Given the description of an element on the screen output the (x, y) to click on. 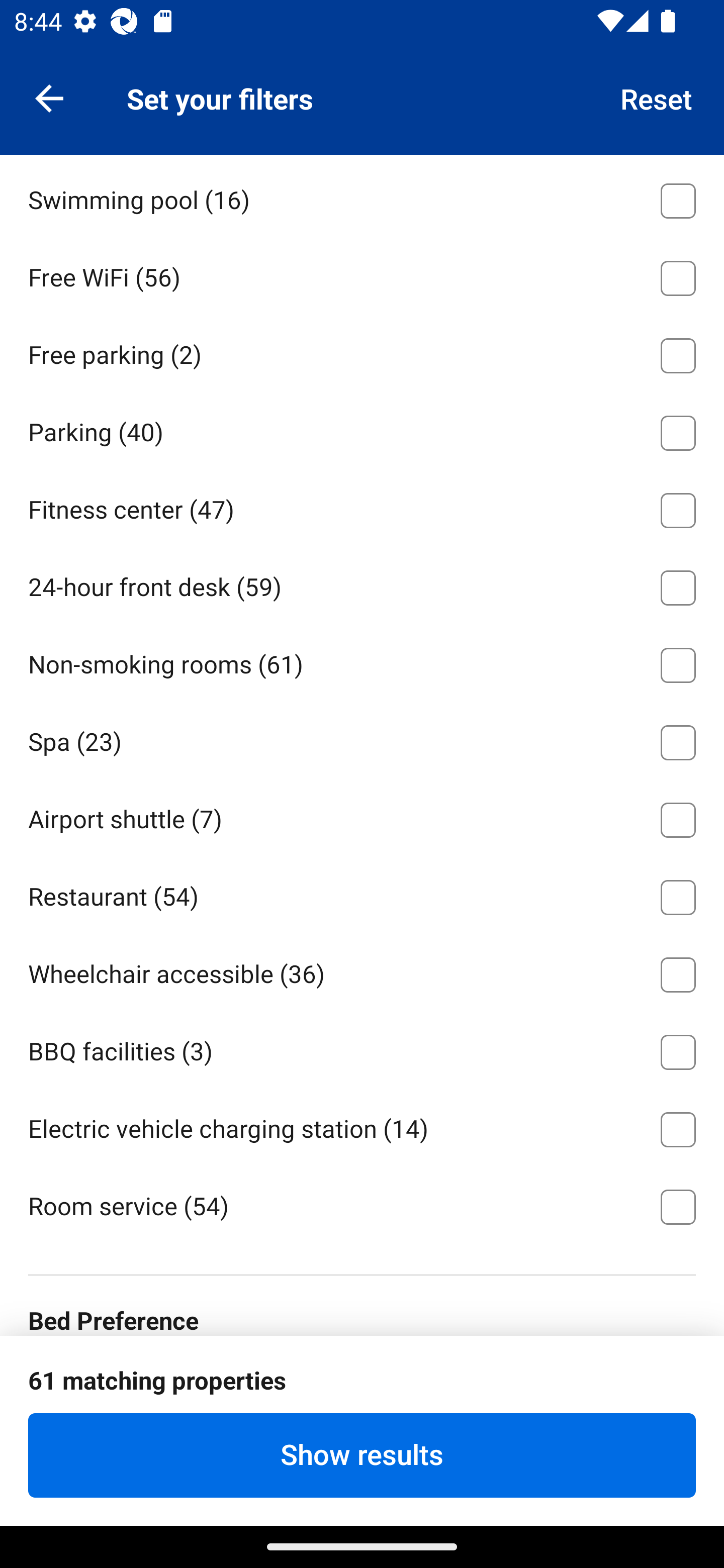
Navigate up (49, 97)
Reset (656, 97)
Swimming pool ⁦(16) (361, 197)
Free WiFi ⁦(56) (361, 274)
Free parking ⁦(2) (361, 351)
Parking ⁦(40) (361, 429)
Fitness center ⁦(47) (361, 506)
24-hour front desk ⁦(59) (361, 583)
Non-smoking rooms ⁦(61) (361, 661)
Spa ⁦(23) (361, 738)
Airport shuttle ⁦(7) (361, 816)
Restaurant ⁦(54) (361, 894)
Wheelchair accessible ⁦(36) (361, 970)
BBQ facilities ⁦(3) (361, 1048)
Electric vehicle charging station ⁦(14) (361, 1126)
Room service ⁦(54) (361, 1205)
2 single beds ⁦(25) (361, 1388)
Show results (361, 1454)
